Given the description of an element on the screen output the (x, y) to click on. 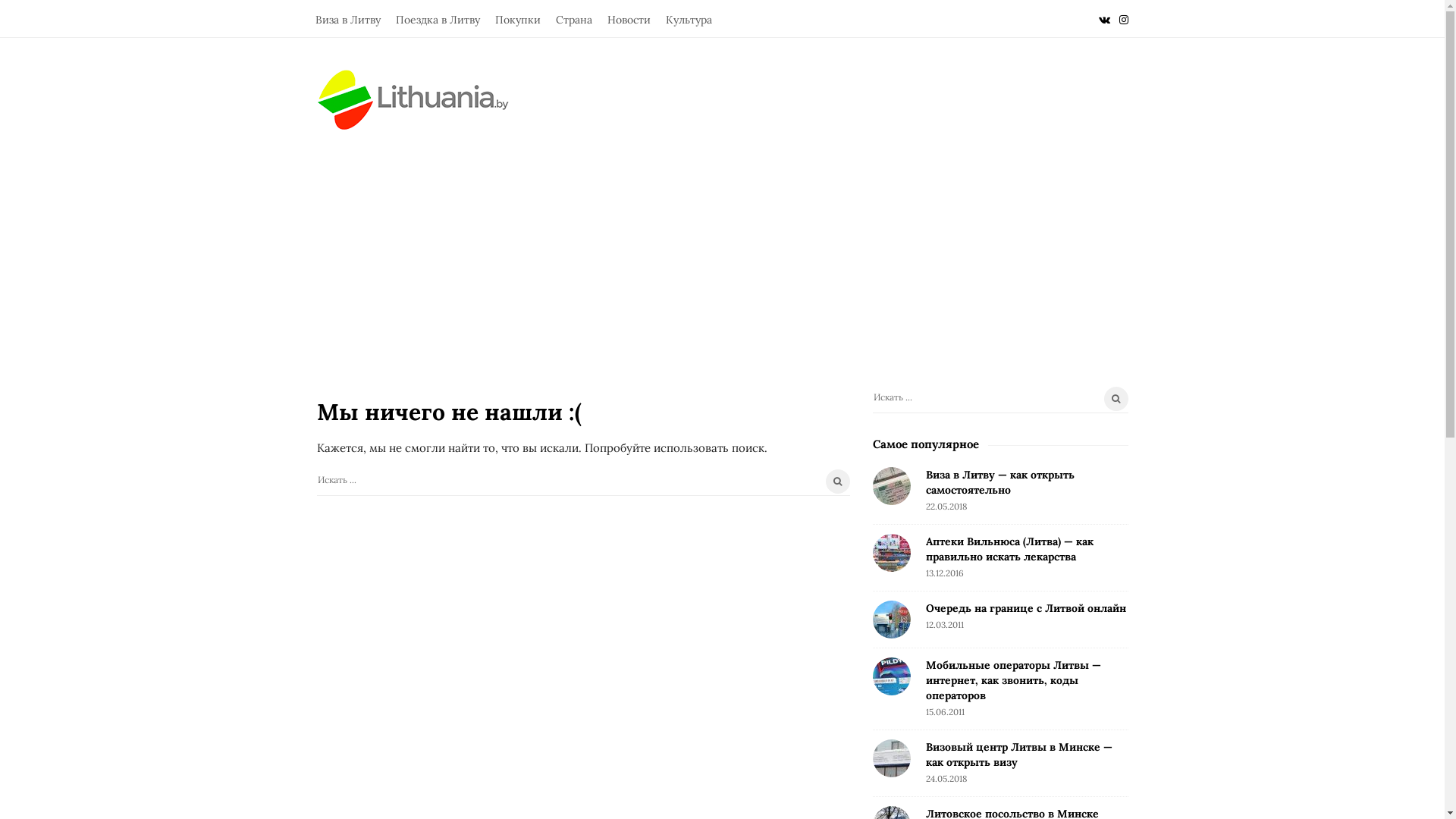
Instagram Element type: hover (1123, 18)
Advertisement Element type: hover (721, 244)
VK Element type: hover (1103, 18)
